Given the description of an element on the screen output the (x, y) to click on. 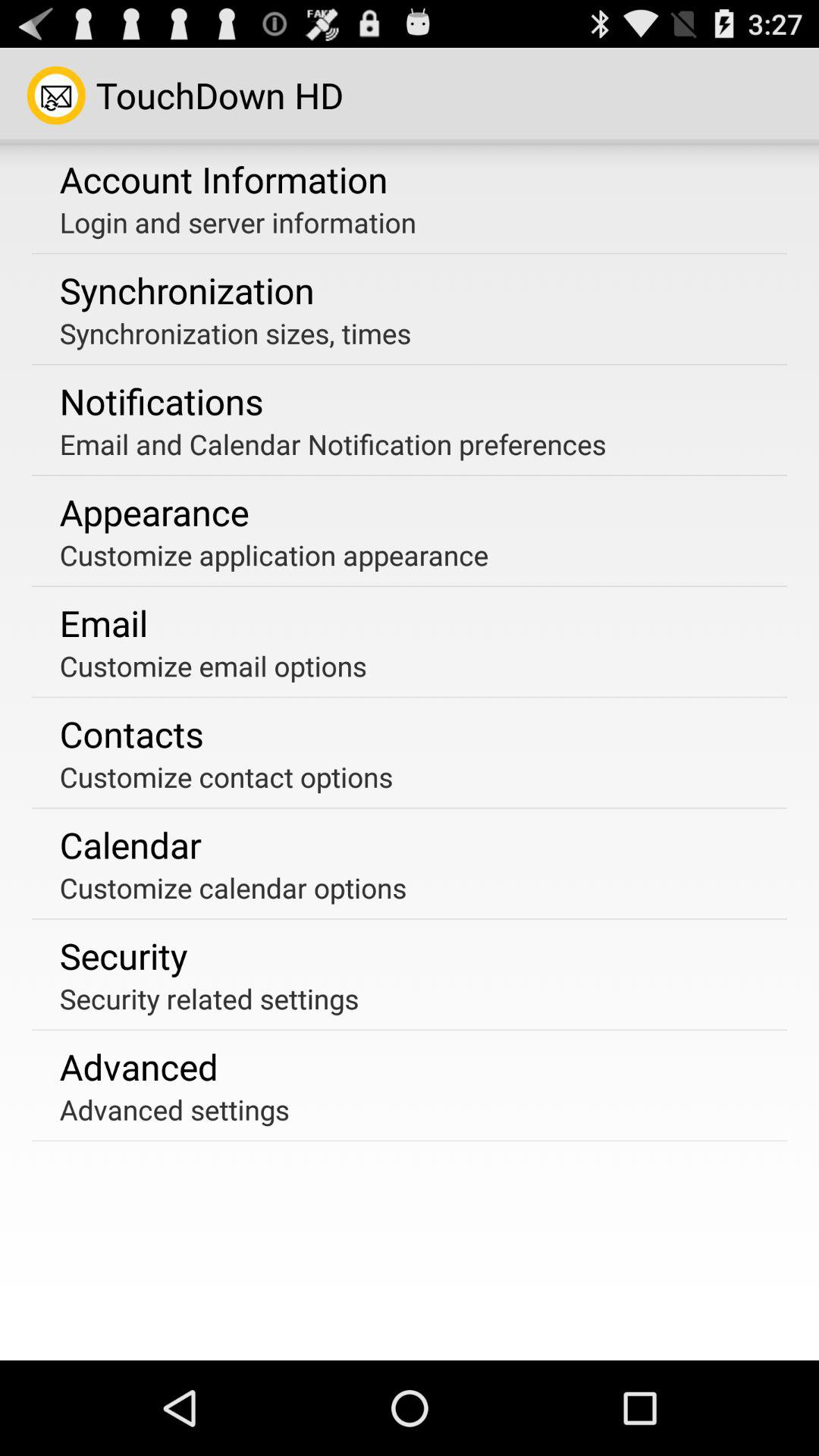
turn off icon below account information item (237, 222)
